Given the description of an element on the screen output the (x, y) to click on. 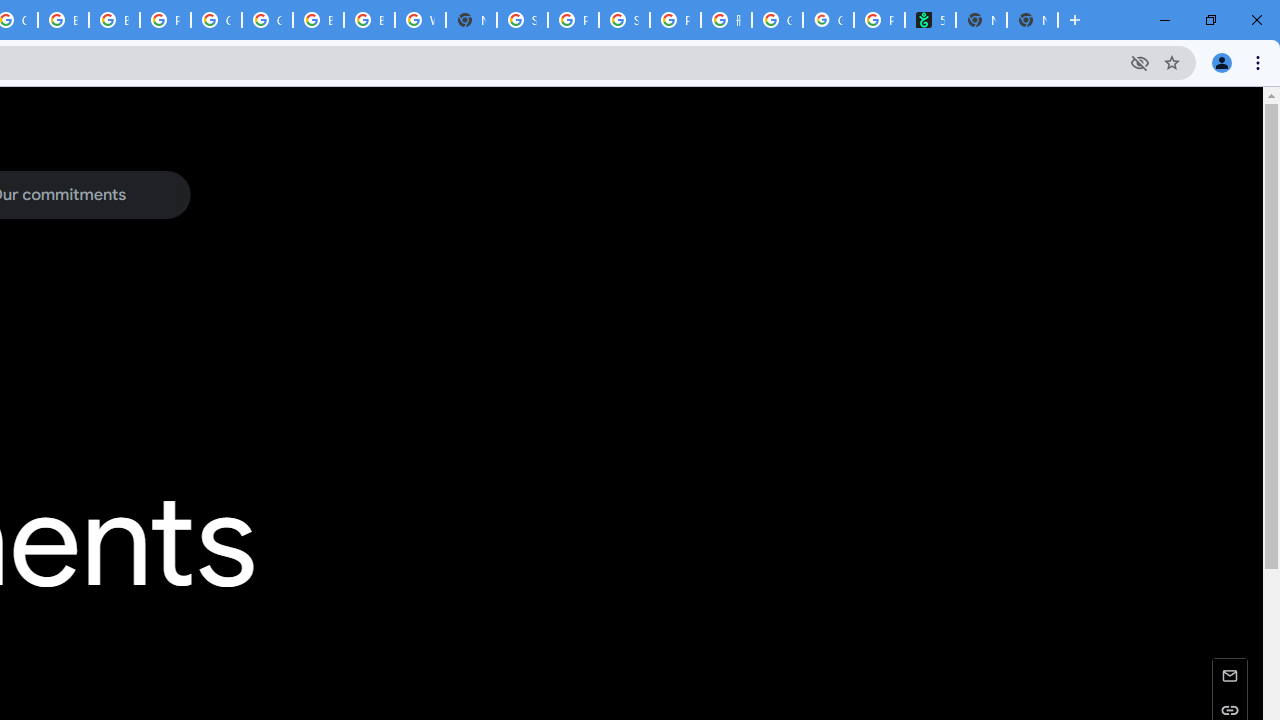
Browse Chrome as a guest - Computer - Google Chrome Help (63, 20)
New Tab (1032, 20)
Google Cloud Platform (267, 20)
